Given the description of an element on the screen output the (x, y) to click on. 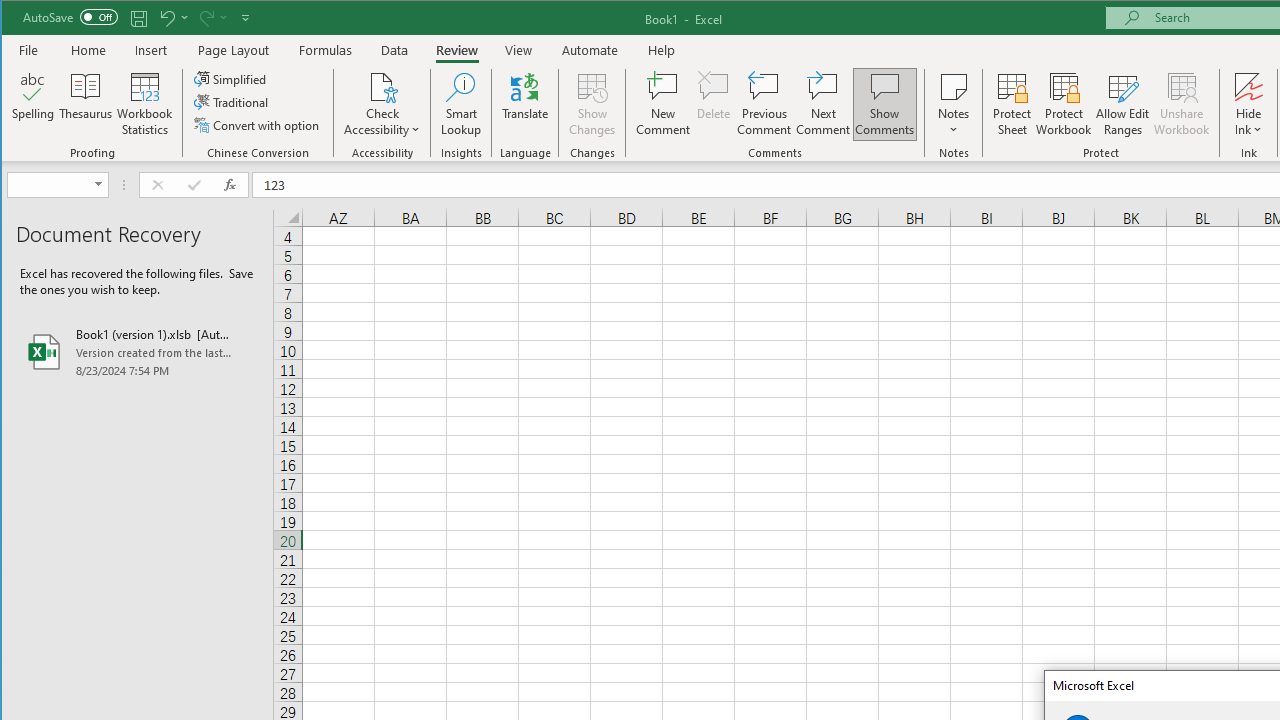
Protect Sheet... (1012, 104)
Show Comments (884, 104)
AutoSave (70, 16)
File Tab (29, 49)
Open (99, 184)
Automate (589, 50)
Convert with option (258, 124)
Notes (954, 104)
Unshare Workbook (1182, 104)
Protect Workbook... (1064, 104)
Save (139, 17)
Redo (211, 17)
Allow Edit Ranges (1123, 104)
More Options (1248, 123)
Insert (151, 50)
